Given the description of an element on the screen output the (x, y) to click on. 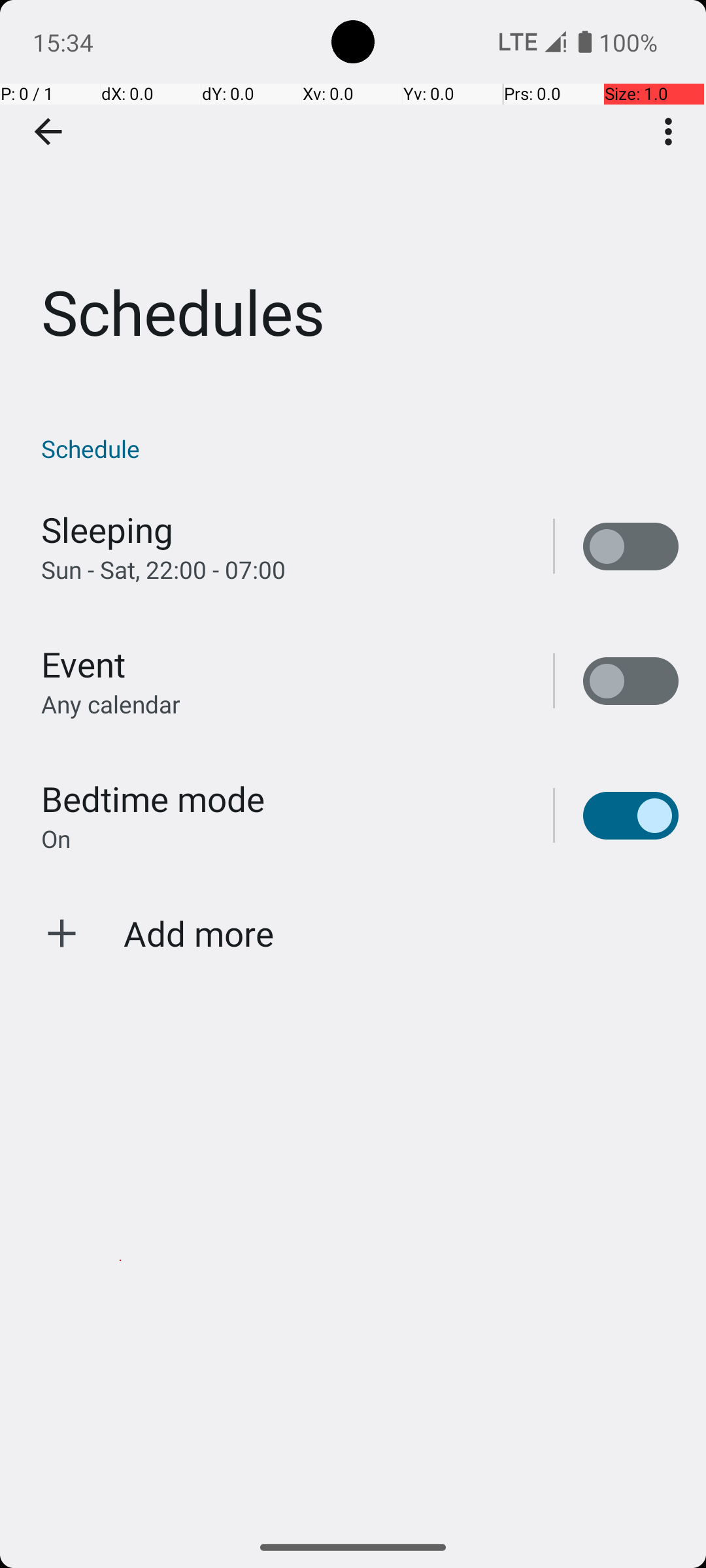
Schedule Element type: android.widget.TextView (359, 448)
Sleeping Element type: android.widget.TextView (107, 529)
Sun - Sat, 22:00 - 07:00 Element type: android.widget.TextView (163, 569)
Any calendar Element type: android.widget.TextView (110, 703)
Bedtime mode Element type: android.widget.TextView (152, 798)
Add more Element type: android.widget.TextView (198, 933)
